Given the description of an element on the screen output the (x, y) to click on. 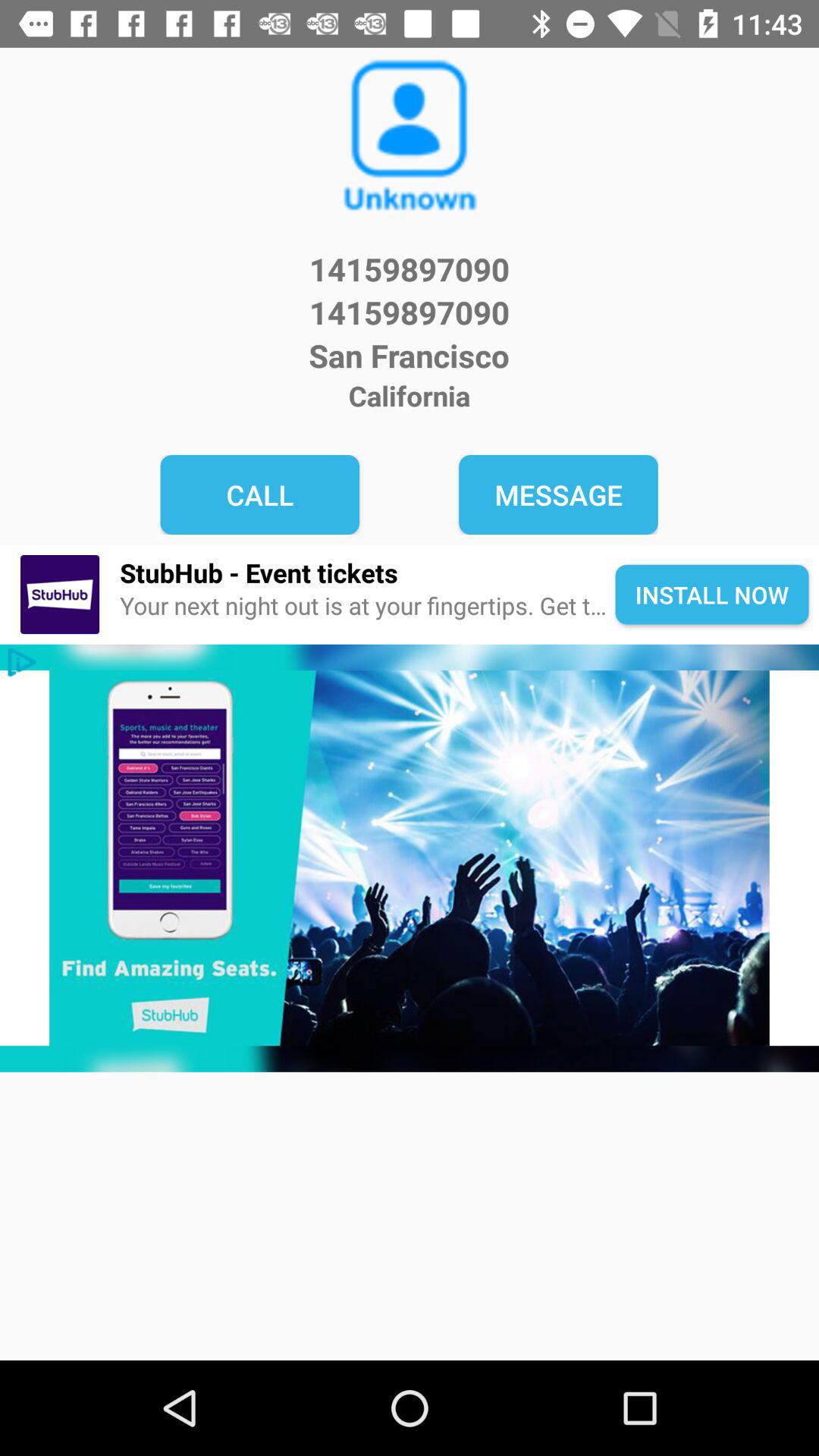
turn off the item to the left of message icon (259, 494)
